Given the description of an element on the screen output the (x, y) to click on. 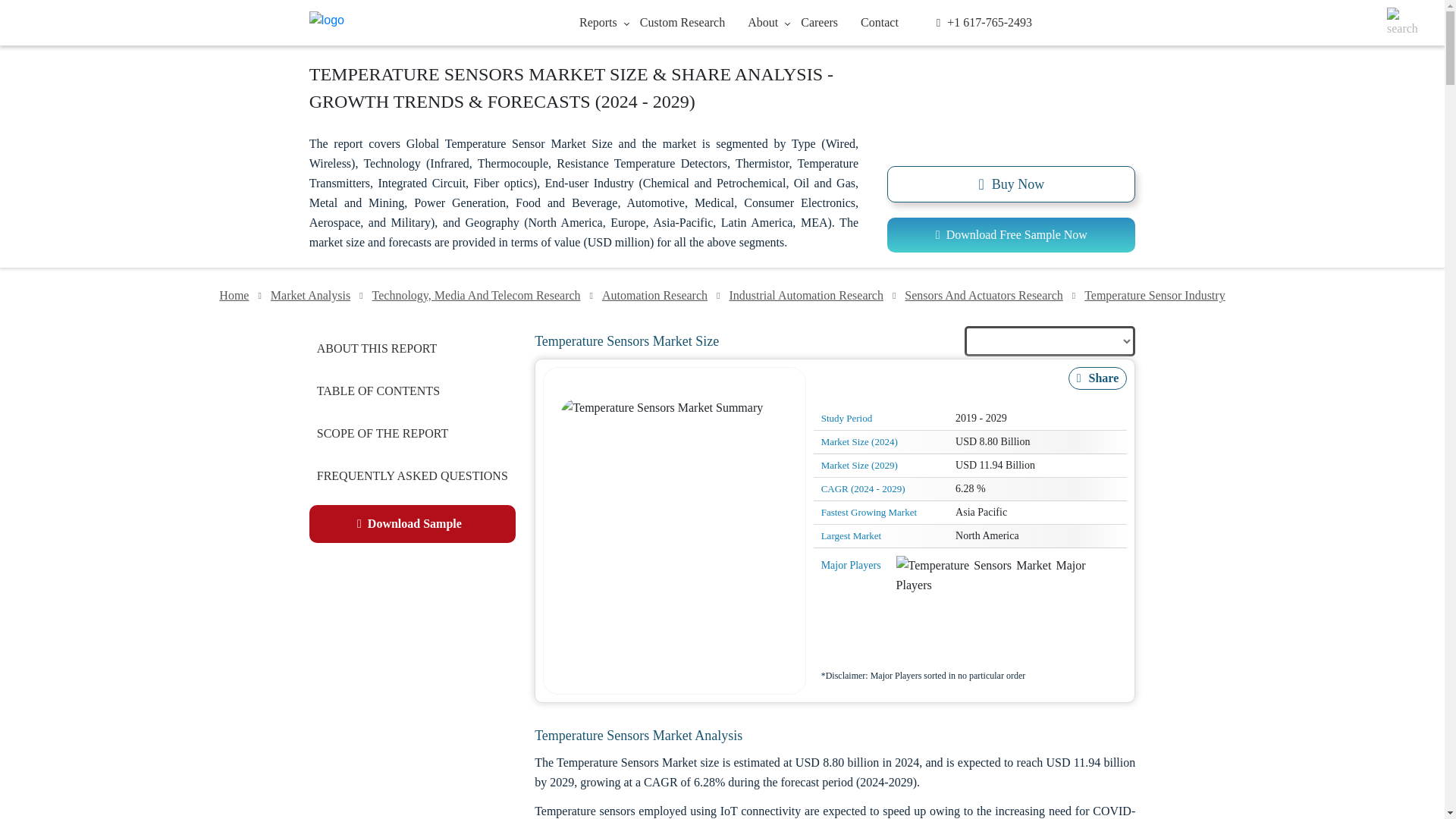
Automation Research (654, 295)
Sensors And Actuators Research (983, 295)
Go to Mordor's home page (400, 22)
Technology, Media And Telecom Research (476, 295)
Buy Now (1010, 184)
Reports (598, 21)
Custom Research (682, 21)
Careers (819, 21)
Contact (879, 21)
Market Analysis (310, 295)
Download Free Sample Now (1010, 234)
Home (233, 295)
About (762, 21)
Industrial Automation Research (805, 295)
